Given the description of an element on the screen output the (x, y) to click on. 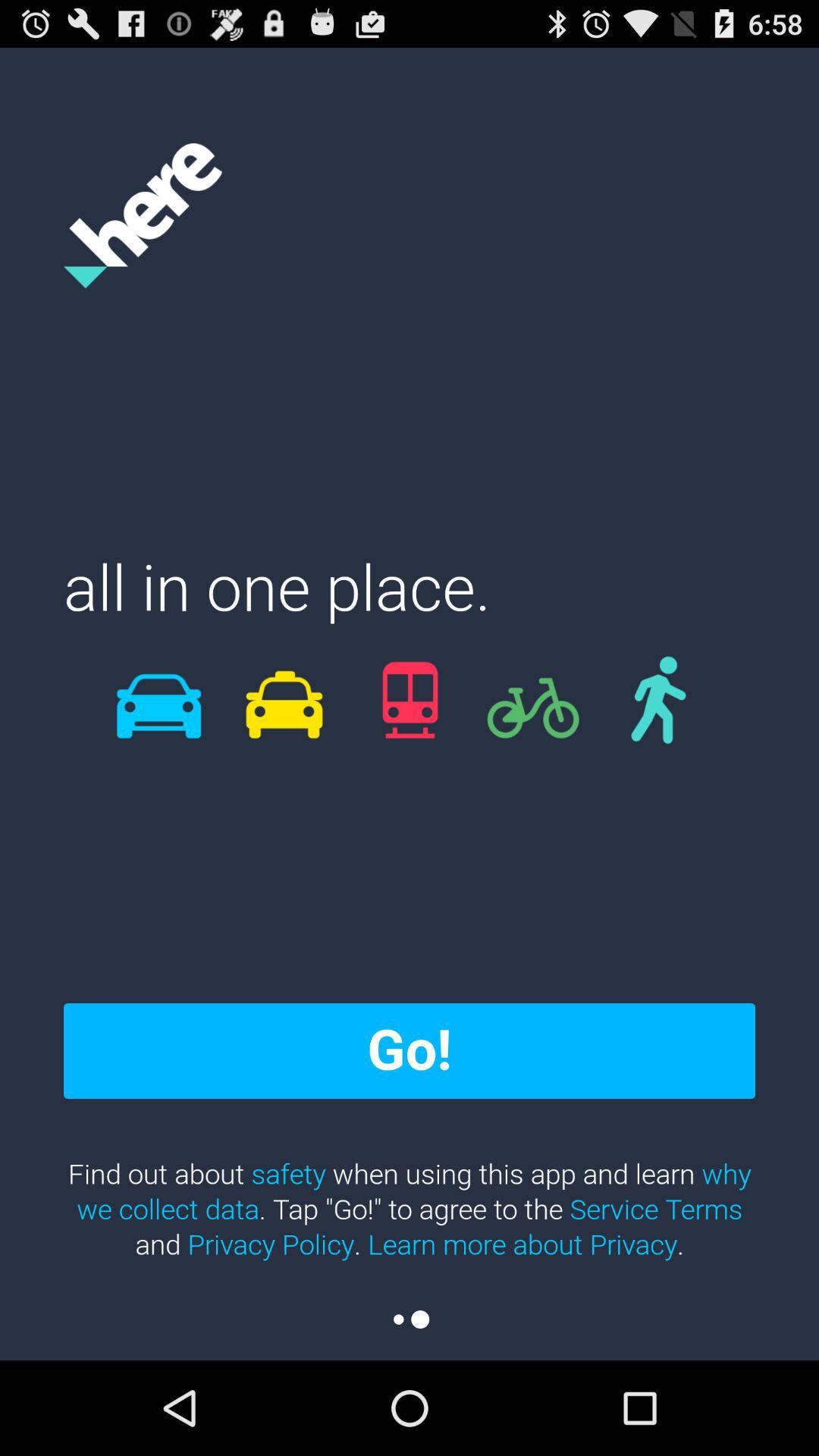
flip to go! icon (409, 1050)
